Given the description of an element on the screen output the (x, y) to click on. 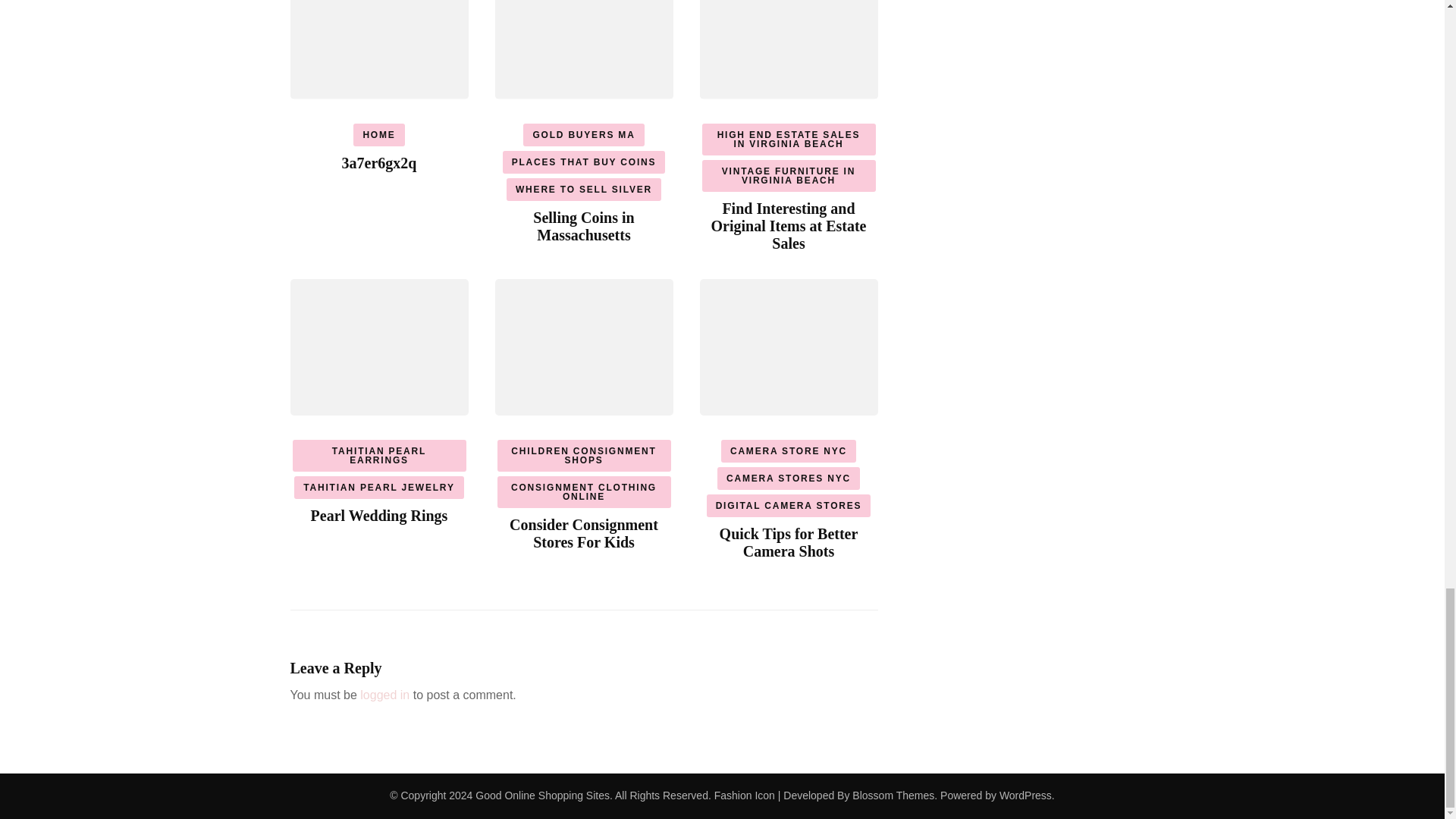
VINTAGE FURNITURE IN VIRGINIA BEACH (788, 175)
WHERE TO SELL SILVER (583, 189)
3a7er6gx2q (379, 162)
HOME (378, 134)
PLACES THAT BUY COINS (583, 161)
TAHITIAN PEARL EARRINGS (378, 455)
GOLD BUYERS MA (582, 134)
HIGH END ESTATE SALES IN VIRGINIA BEACH (788, 139)
Find Interesting and Original Items at Estate Sales (788, 225)
Selling Coins in Massachusetts (582, 226)
